Given the description of an element on the screen output the (x, y) to click on. 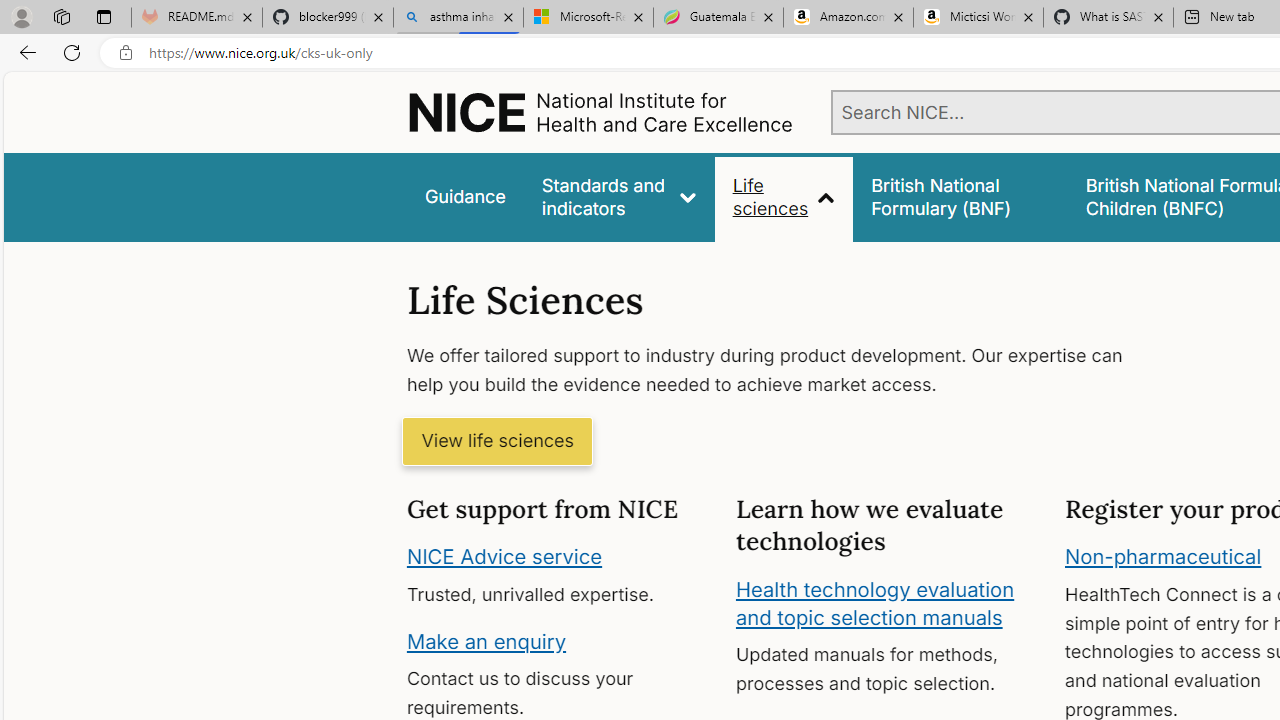
Make an enquiry (486, 640)
View life sciences (497, 441)
Non-pharmaceutical (1163, 557)
asthma inhaler - Search (458, 17)
Health technology evaluation and topic selection manuals (874, 603)
false (959, 196)
